Given the description of an element on the screen output the (x, y) to click on. 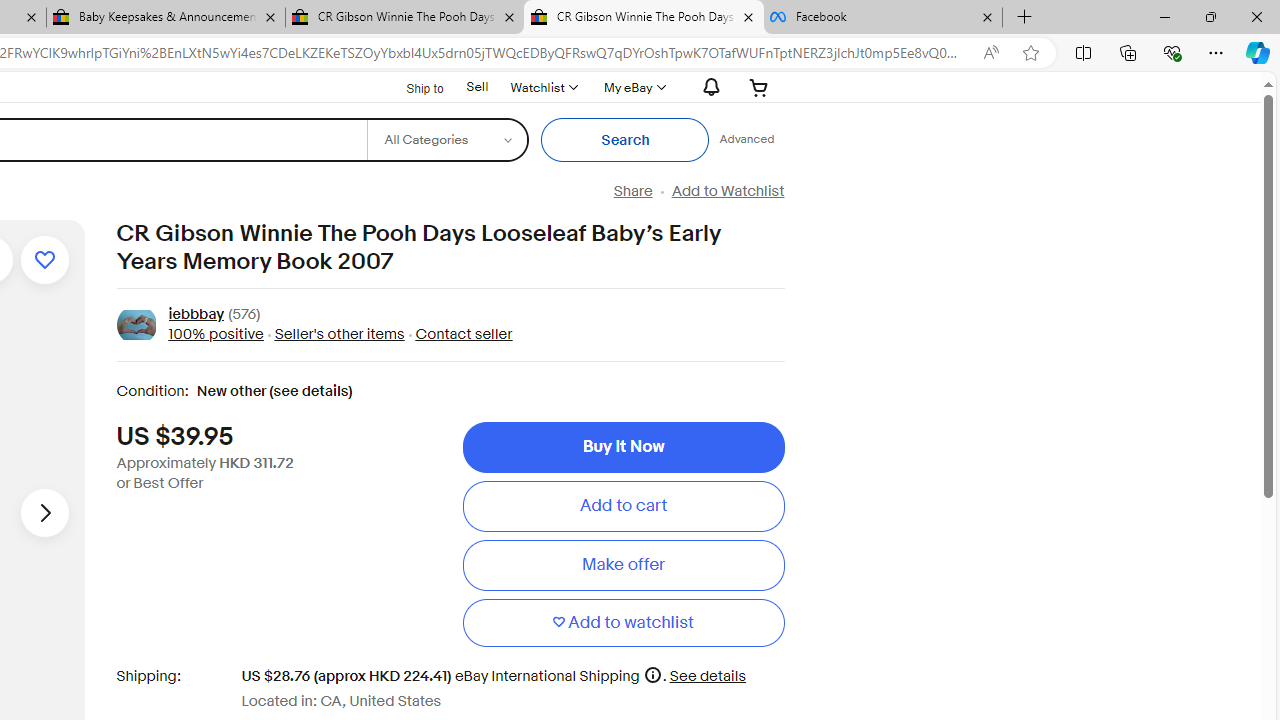
Seller's other items (338, 334)
Watchlist (543, 87)
My eBay (632, 87)
Ship to (412, 85)
(576) (244, 315)
Next image - Item images thumbnails (44, 512)
Add to watchlist (623, 622)
